Given the description of an element on the screen output the (x, y) to click on. 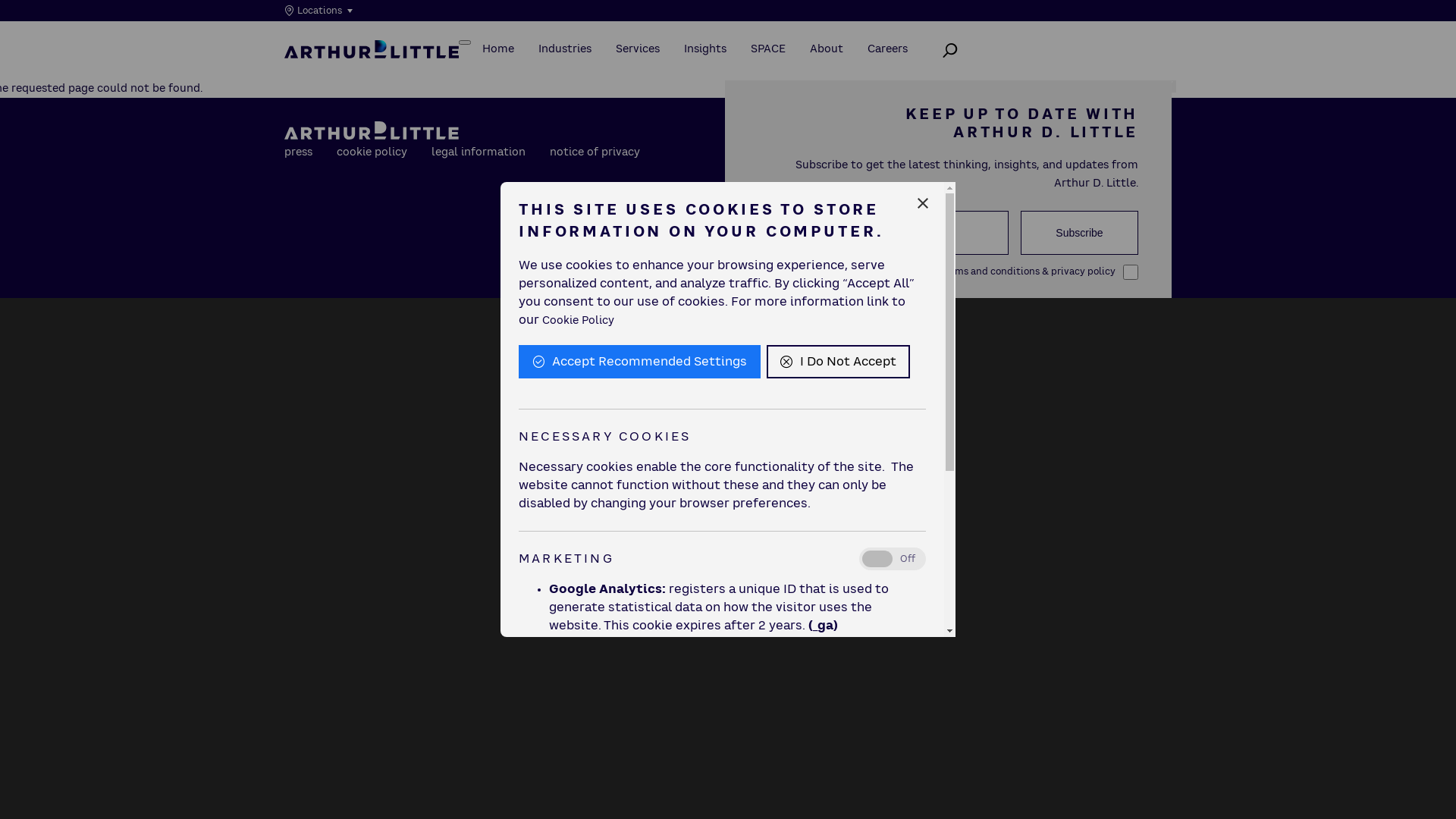
Cookie Policy Element type: text (578, 320)
Services Element type: text (637, 49)
Industries Element type: text (564, 49)
Accept Recommended Settings Element type: text (639, 361)
contact Element type: text (953, 81)
Open submenu Element type: text (365, 39)
cookie policy Element type: text (371, 152)
Home Element type: hover (371, 49)
notice of privacy Element type: text (594, 152)
SPACE Element type: text (767, 49)
terms and conditions Element type: text (990, 271)
alumni Element type: text (843, 81)
privacy policy Element type: text (1083, 271)
Home Element type: text (498, 49)
I Do Not Accept Element type: text (838, 361)
Subscribe Element type: text (1079, 232)
Careers Element type: text (887, 49)
Insights Element type: text (705, 49)
Locations Element type: text (312, 39)
Locations Element type: text (332, 10)
Skip to main content Element type: text (727, 1)
amp Element type: text (897, 81)
About Element type: text (826, 49)
legal information Element type: text (478, 152)
press Element type: text (298, 152)
Your saved content Element type: text (1060, 81)
